Given the description of an element on the screen output the (x, y) to click on. 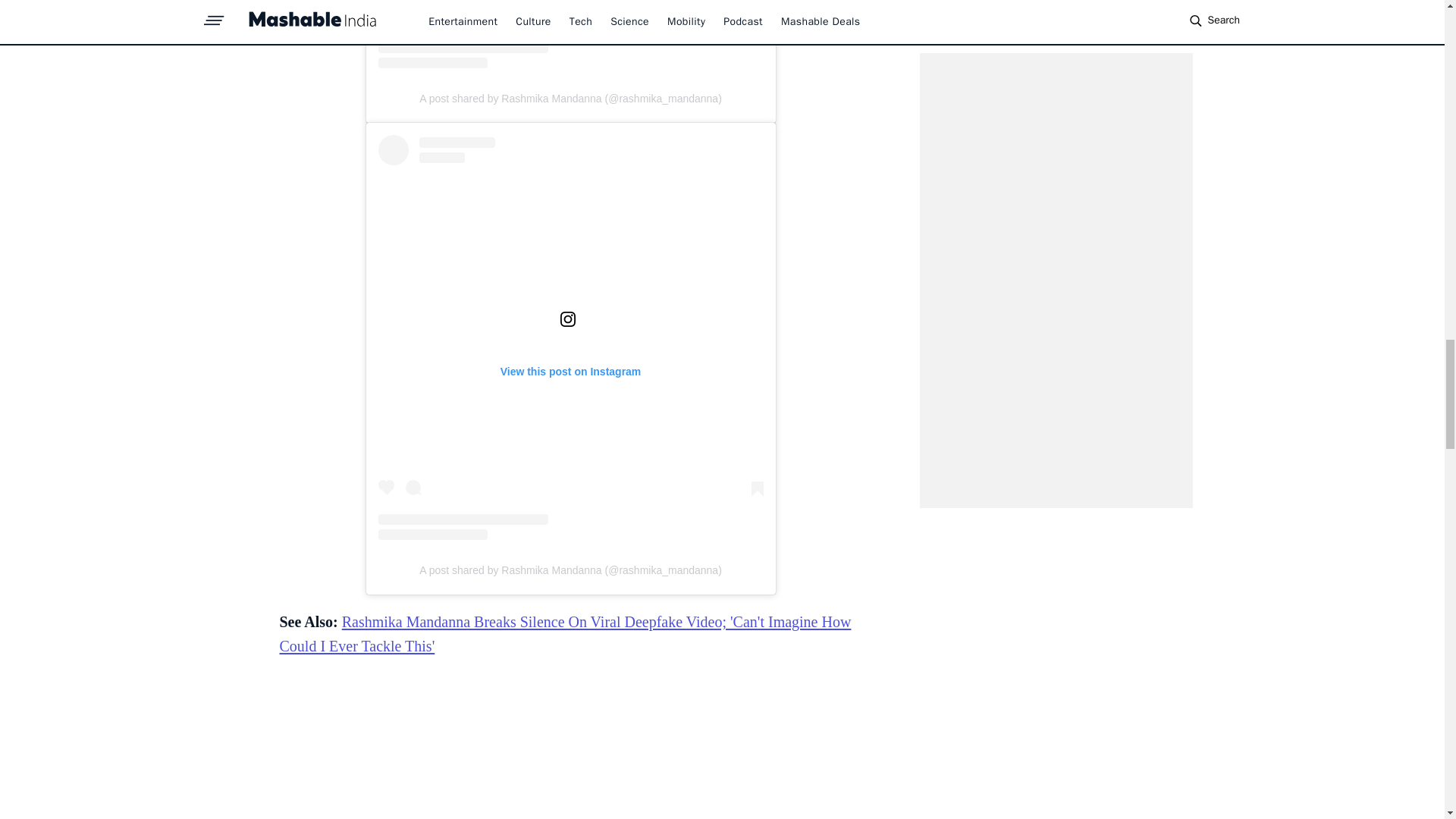
View this post on Instagram (569, 34)
